Given the description of an element on the screen output the (x, y) to click on. 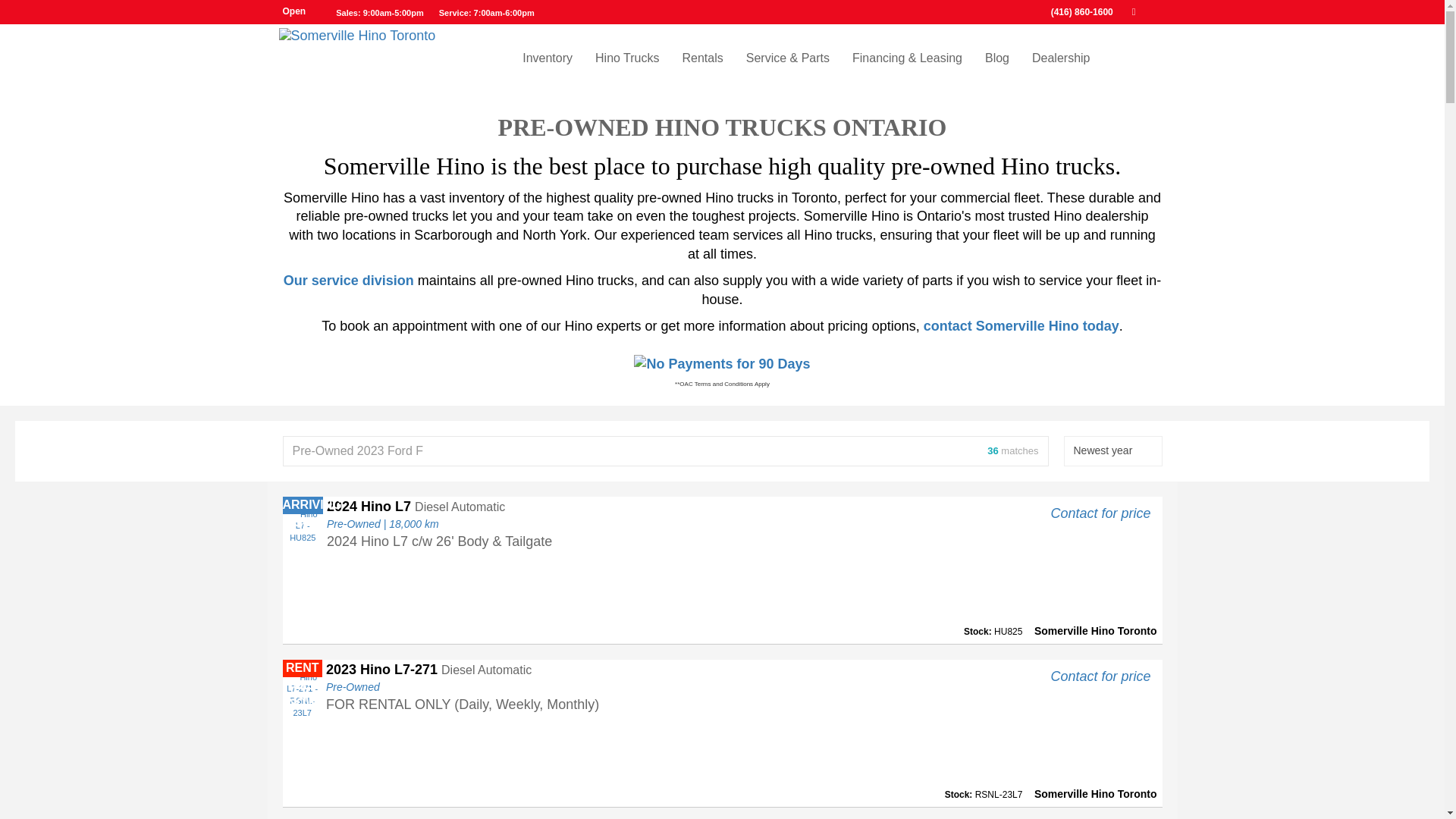
Inventory (547, 57)
Blog (997, 57)
contact Somerville Hino today (1021, 325)
Dealership (1060, 57)
Our service division (348, 280)
Rentals (701, 57)
Hino Trucks (626, 57)
